Given the description of an element on the screen output the (x, y) to click on. 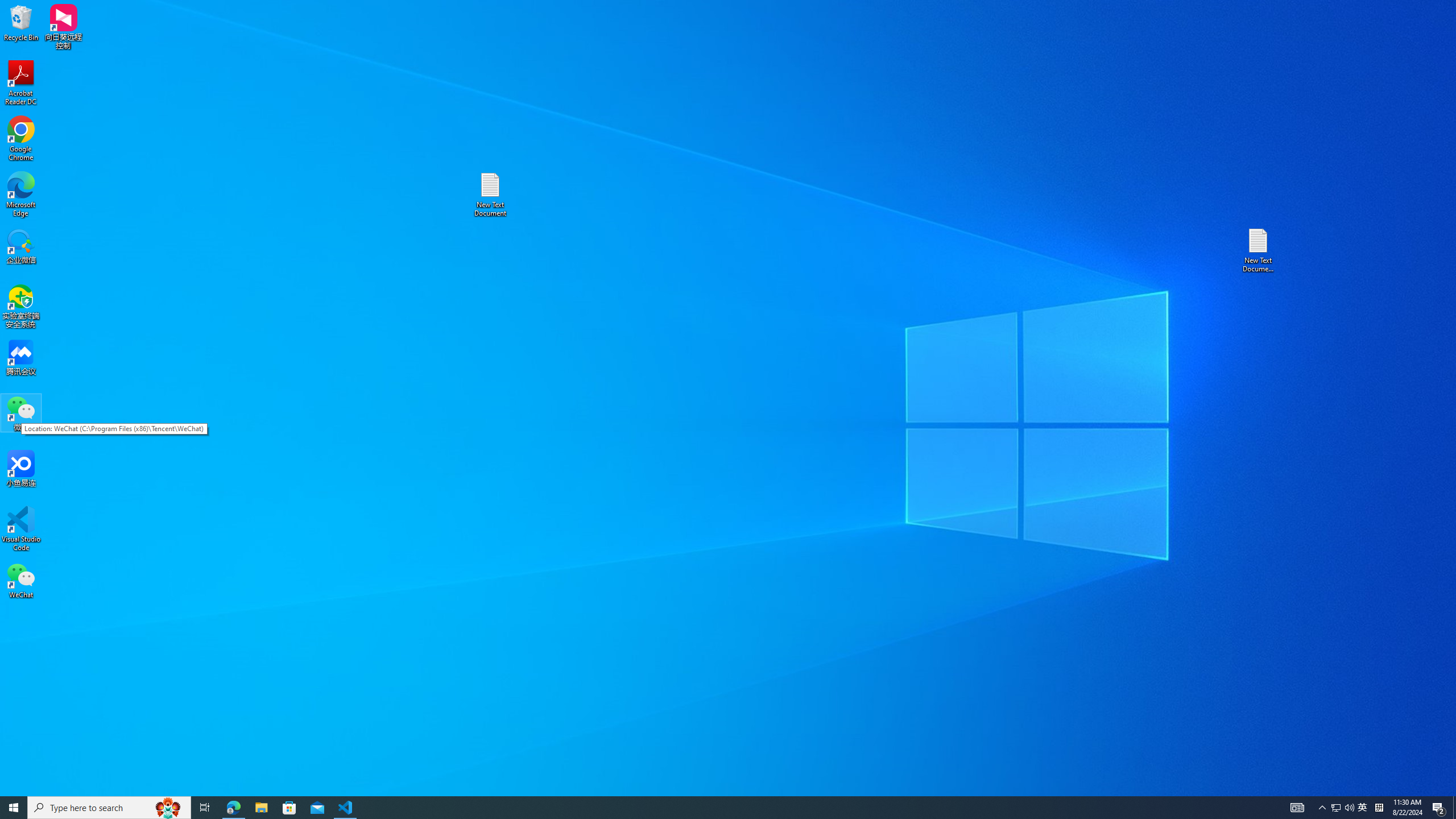
Show desktop (1454, 807)
Notification Chevron (1322, 807)
User Promoted Notification Area (1342, 807)
AutomationID: 4105 (1297, 807)
Visual Studio Code - 1 running window (345, 807)
Type here to search (108, 807)
Microsoft Store (289, 807)
Task View (204, 807)
Start (13, 807)
Microsoft Edge - 1 running window (233, 807)
Action Center, 2 new notifications (1439, 807)
Recycle Bin (21, 22)
